Given the description of an element on the screen output the (x, y) to click on. 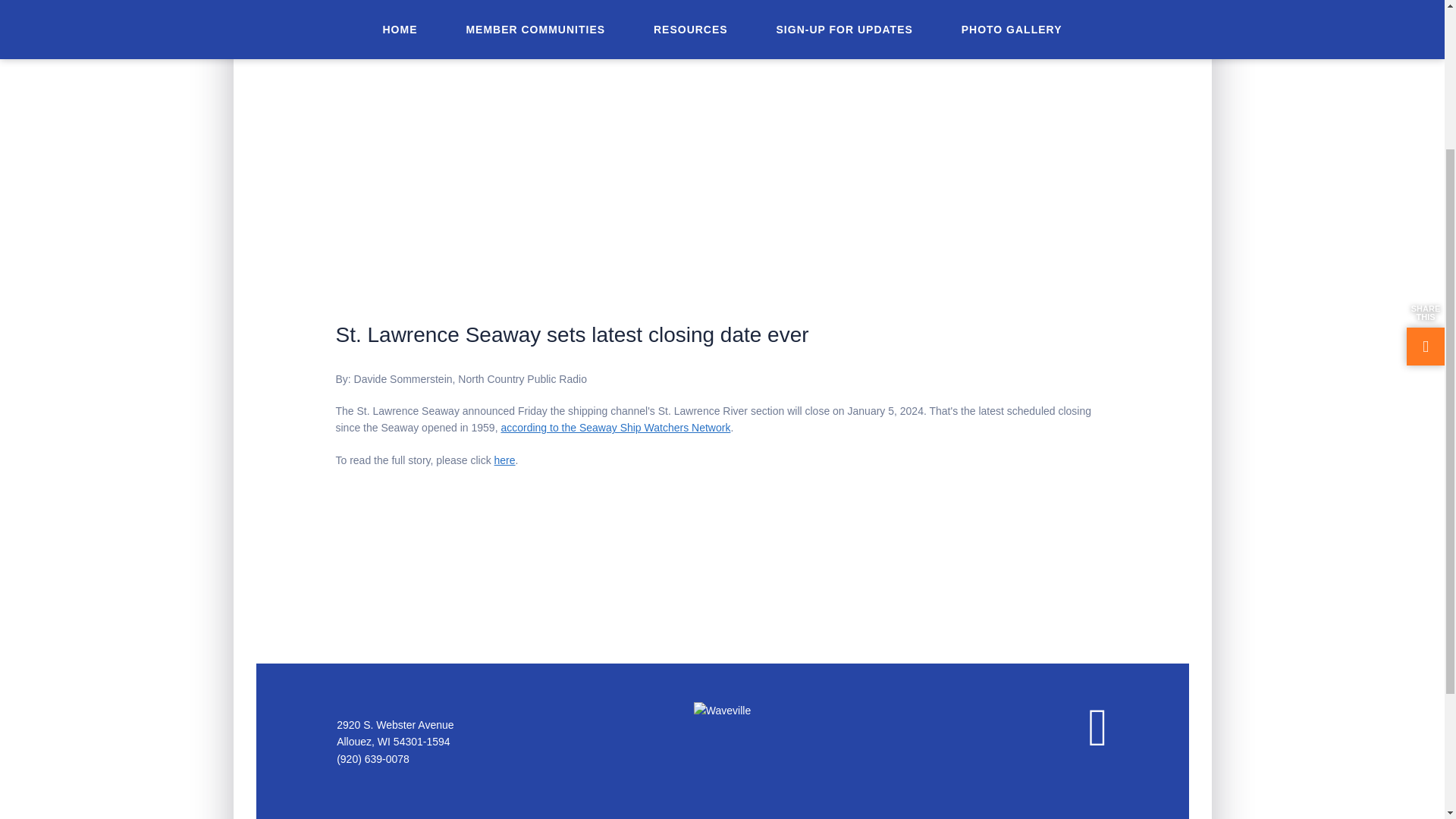
according to the Seaway Ship Watchers Network (615, 427)
here (505, 460)
